Given the description of an element on the screen output the (x, y) to click on. 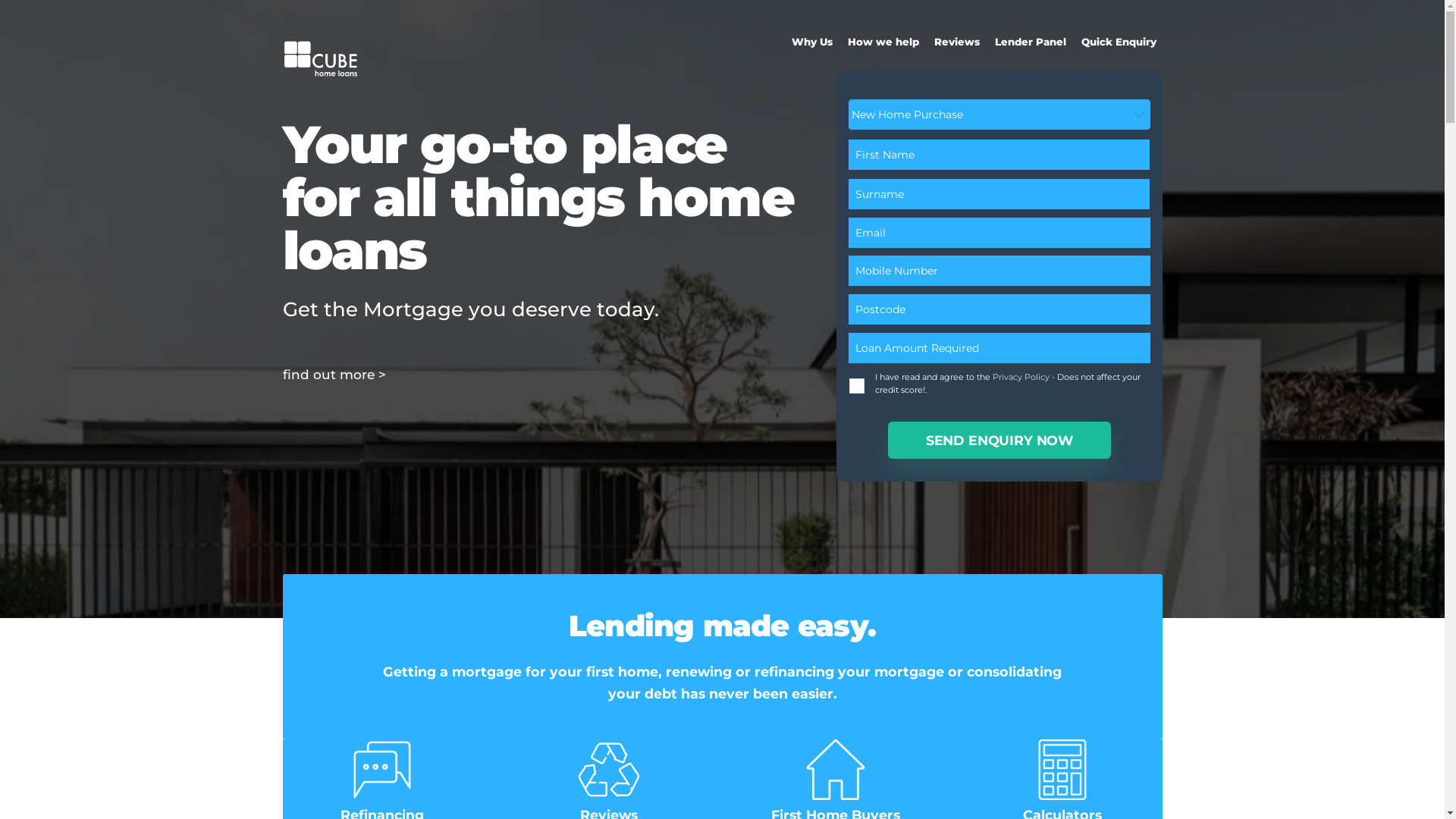
recycle Element type: hover (608, 769)
Why Us Element type: text (811, 42)
calculator Element type: hover (1062, 769)
chat icon Element type: hover (381, 769)
How we help Element type: text (883, 42)
Lender Panel Element type: text (1030, 42)
Cube_homeloans_white reverse Element type: hover (319, 57)
Privacy Policy Element type: text (1020, 376)
Reviews Element type: text (956, 42)
Quick Enquiry Element type: text (1118, 42)
Cube Home Loans Element type: hover (319, 75)
Send Enquiry Now Element type: text (999, 439)
home icon Element type: hover (835, 769)
find out more > Element type: text (333, 374)
